Given the description of an element on the screen output the (x, y) to click on. 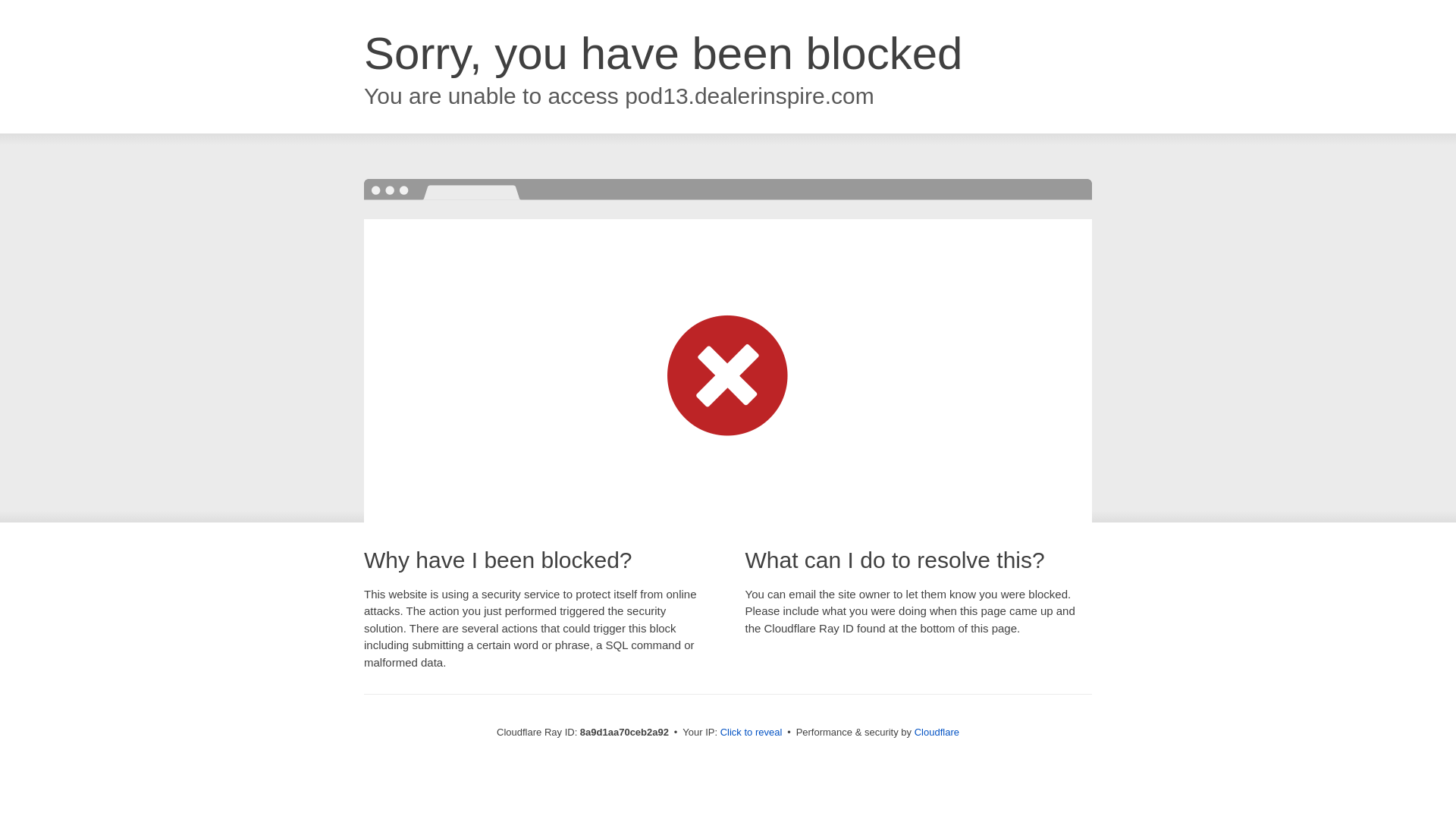
Click to reveal (751, 732)
Cloudflare (936, 731)
